Given the description of an element on the screen output the (x, y) to click on. 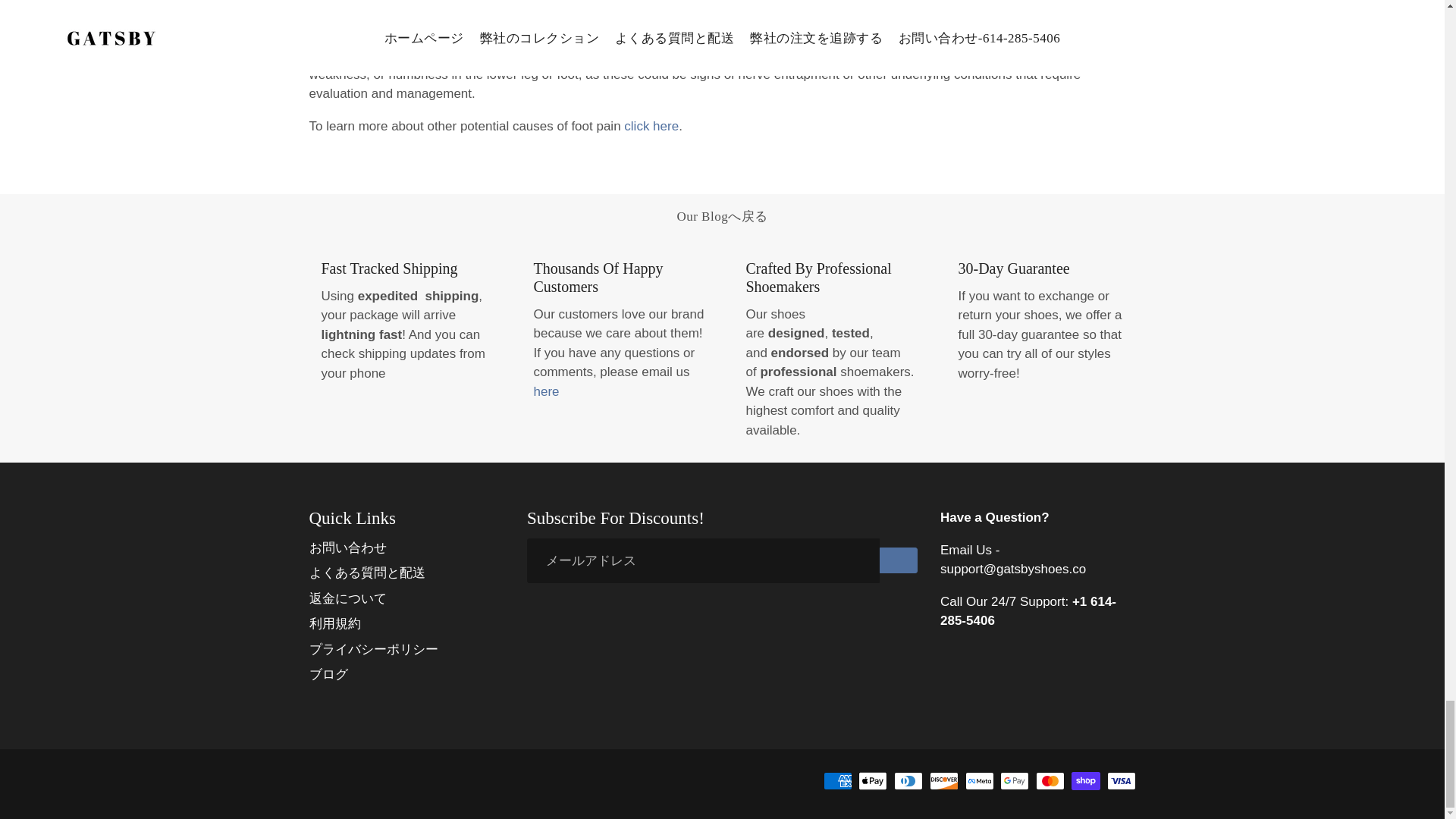
Other Causes of Foot Pain (651, 125)
Google Pay (1014, 781)
here (546, 391)
Contact Us (546, 391)
Apple Pay (872, 781)
click here (651, 125)
Meta Pay (979, 781)
Diners Club (908, 781)
Mastercard (1049, 781)
Discover (944, 781)
